Given the description of an element on the screen output the (x, y) to click on. 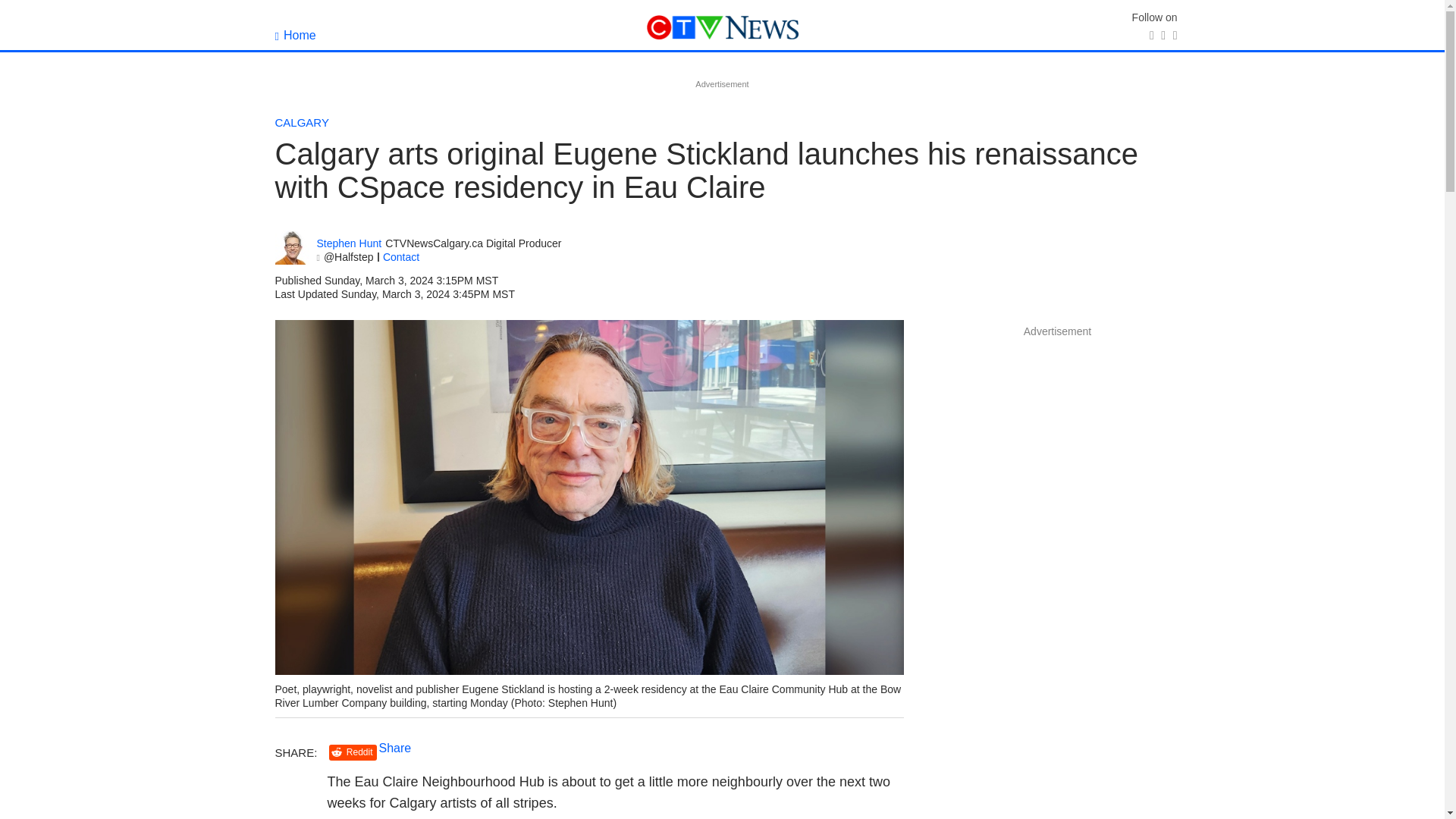
Stephen Hunt (349, 243)
Home (295, 34)
Reddit (353, 752)
CALGARY (302, 122)
Contact (400, 256)
Share (395, 748)
